Given the description of an element on the screen output the (x, y) to click on. 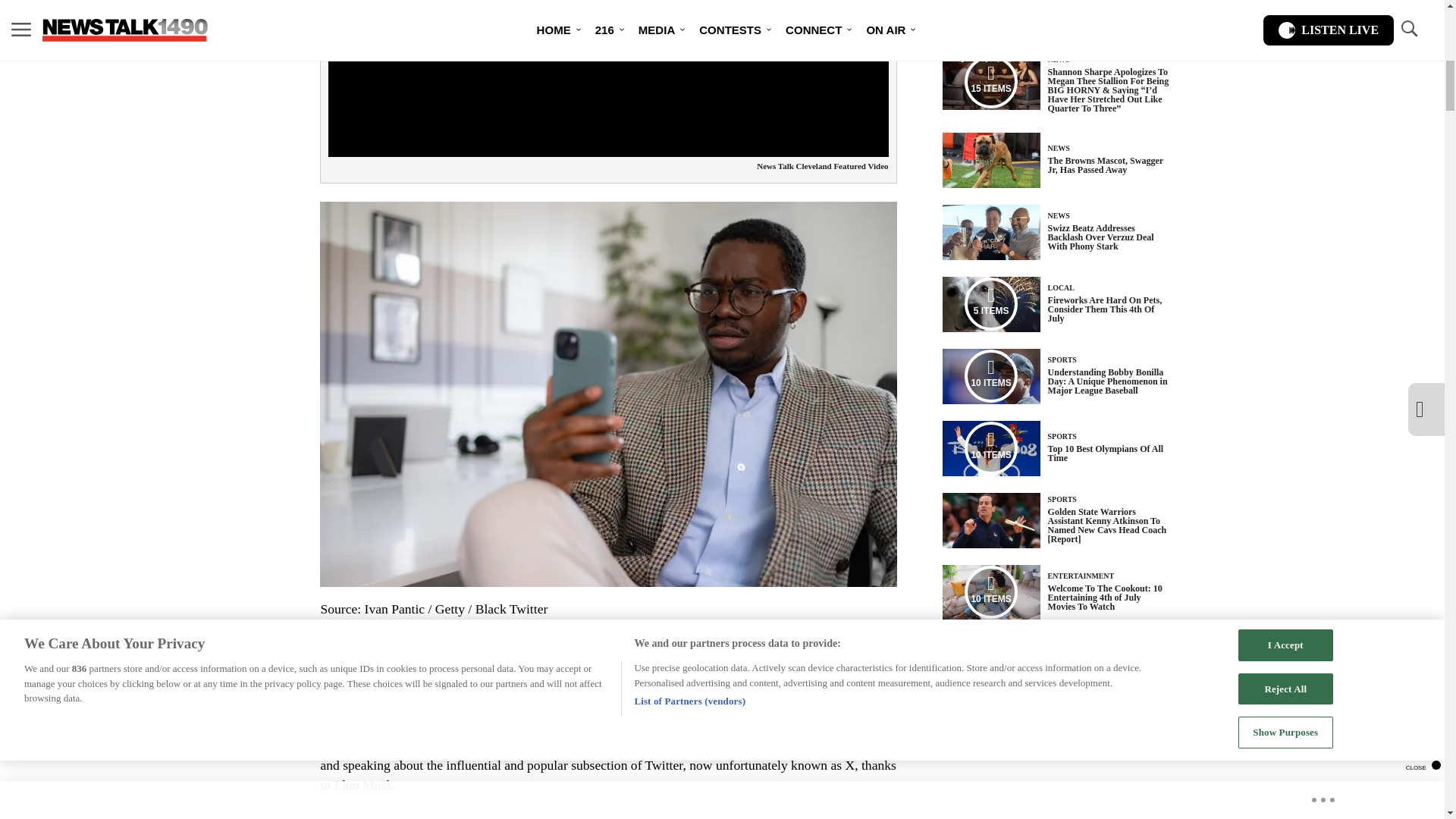
Media Playlist (990, 448)
15 ITEMS (991, 81)
Media Playlist (990, 592)
Media Playlist (990, 81)
Media Playlist (990, 375)
Black Twitter (598, 668)
Media Playlist (990, 303)
